Given the description of an element on the screen output the (x, y) to click on. 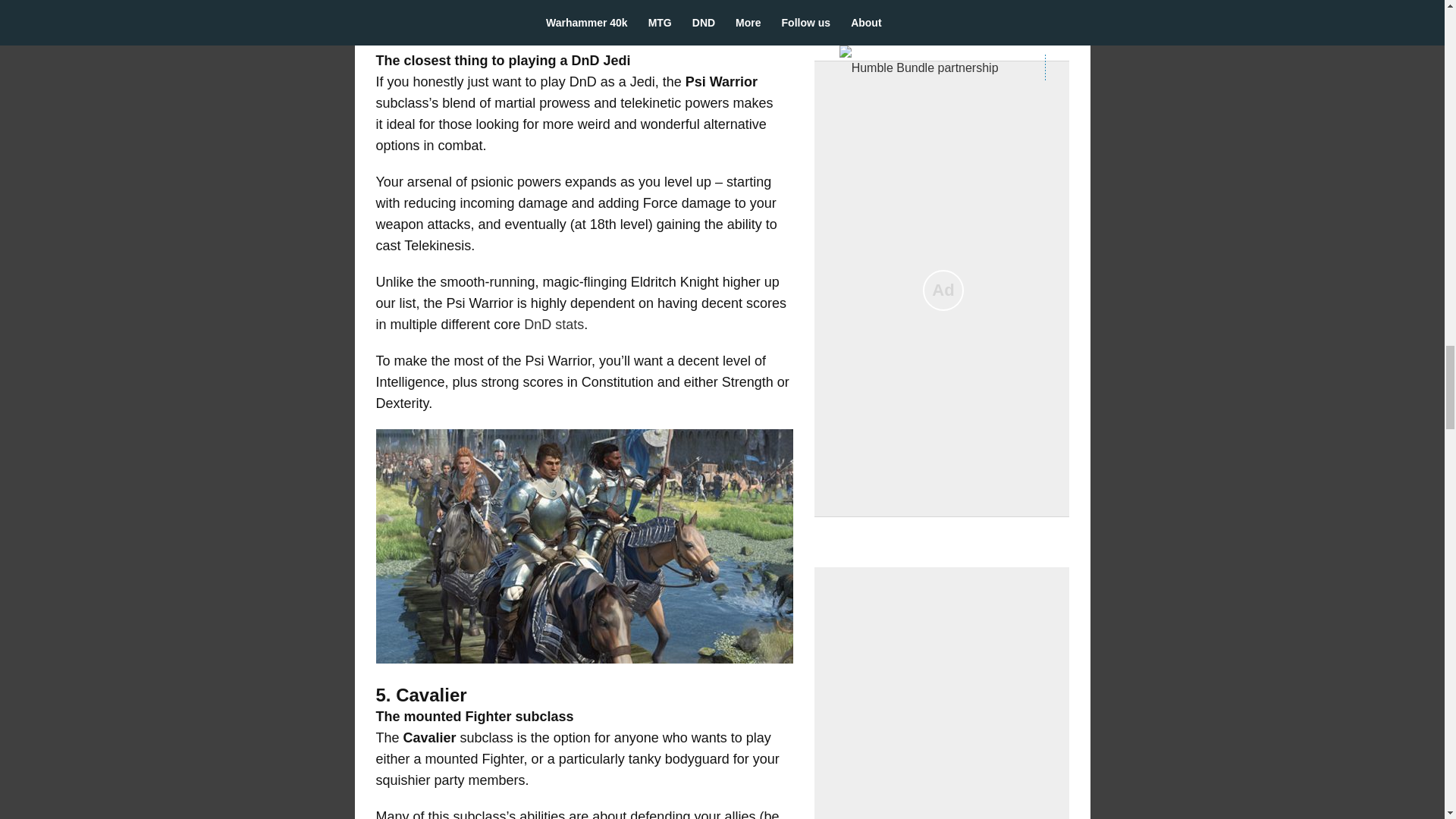
dnd-fighter-subclasses-mounted-fighters (584, 546)
dnd-fighter-subclasses-psi-warrior-shield (584, 6)
